Given the description of an element on the screen output the (x, y) to click on. 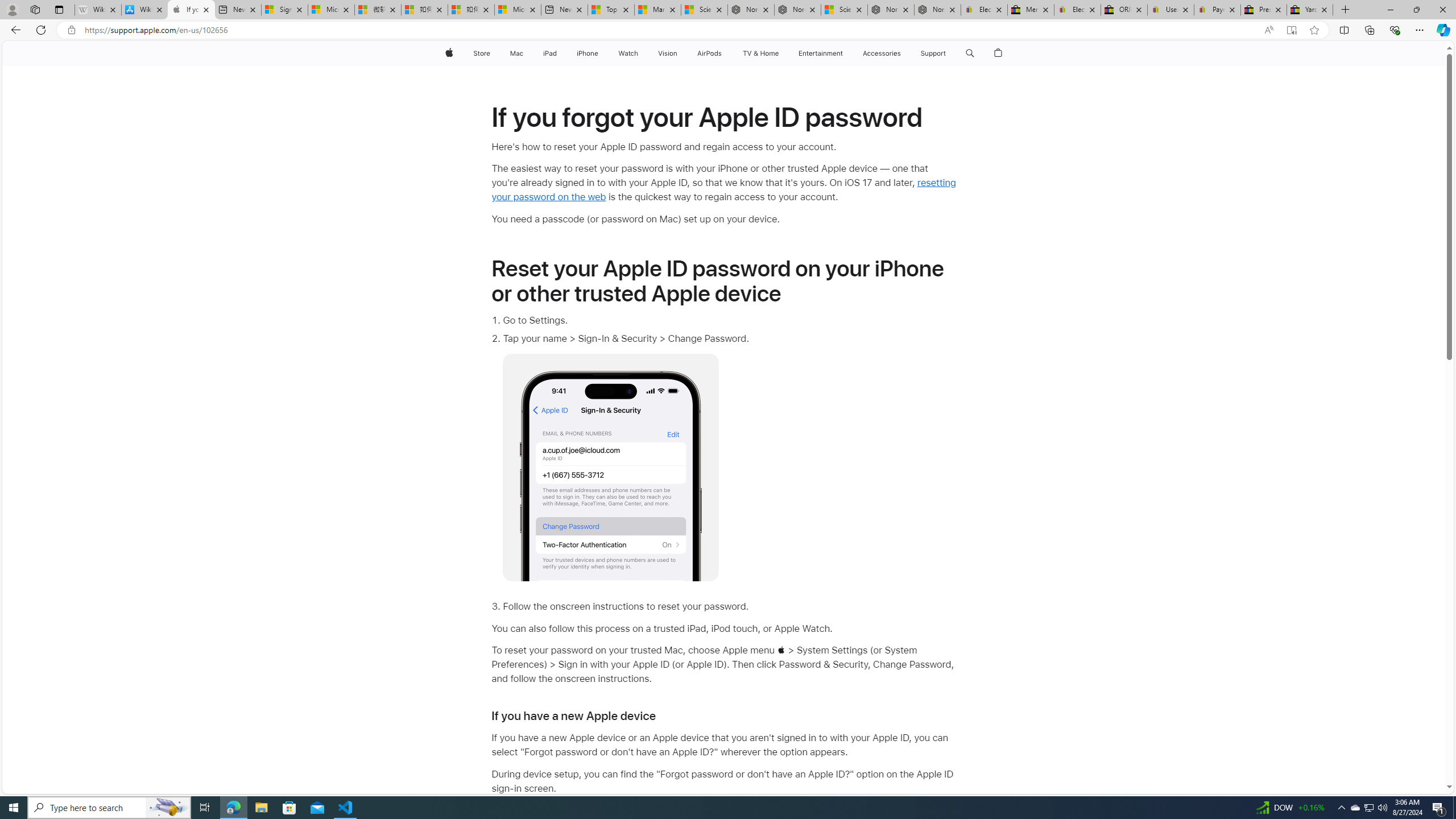
Support (932, 53)
Support menu (948, 53)
Apple (448, 53)
Accessories (881, 53)
Nordace - FAQ (937, 9)
If you forgot your Apple ID password - Apple Support (191, 9)
